Given the description of an element on the screen output the (x, y) to click on. 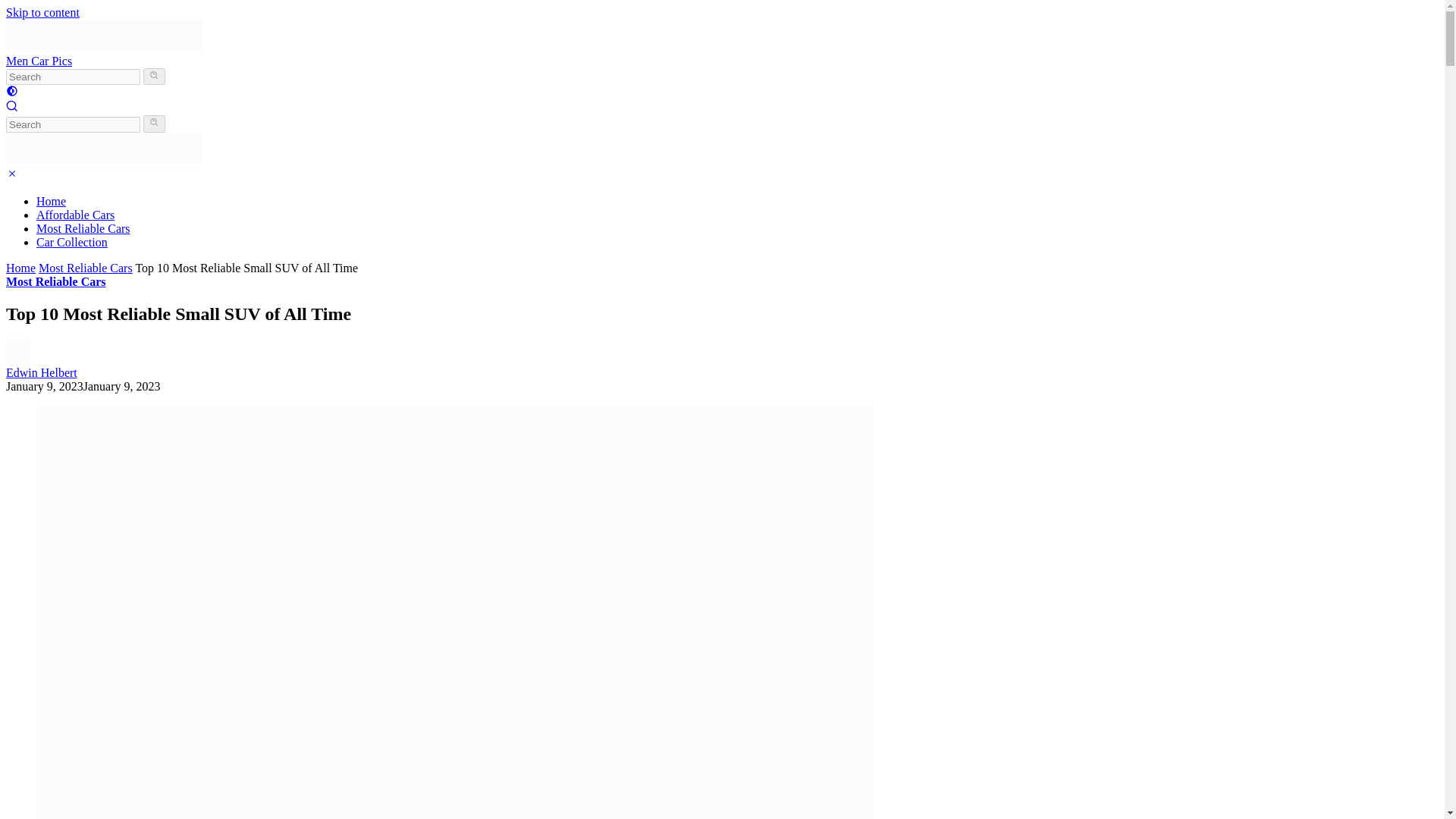
Most Reliable Cars (85, 267)
Edwin Helbert (41, 372)
Mencarpics (103, 47)
Men Car Pics (38, 60)
Dark Mode (11, 92)
Affordable Cars (75, 214)
Home (50, 201)
Car Collection (71, 241)
Most Reliable Cars (83, 228)
Edwin Helbert (41, 372)
